Given the description of an element on the screen output the (x, y) to click on. 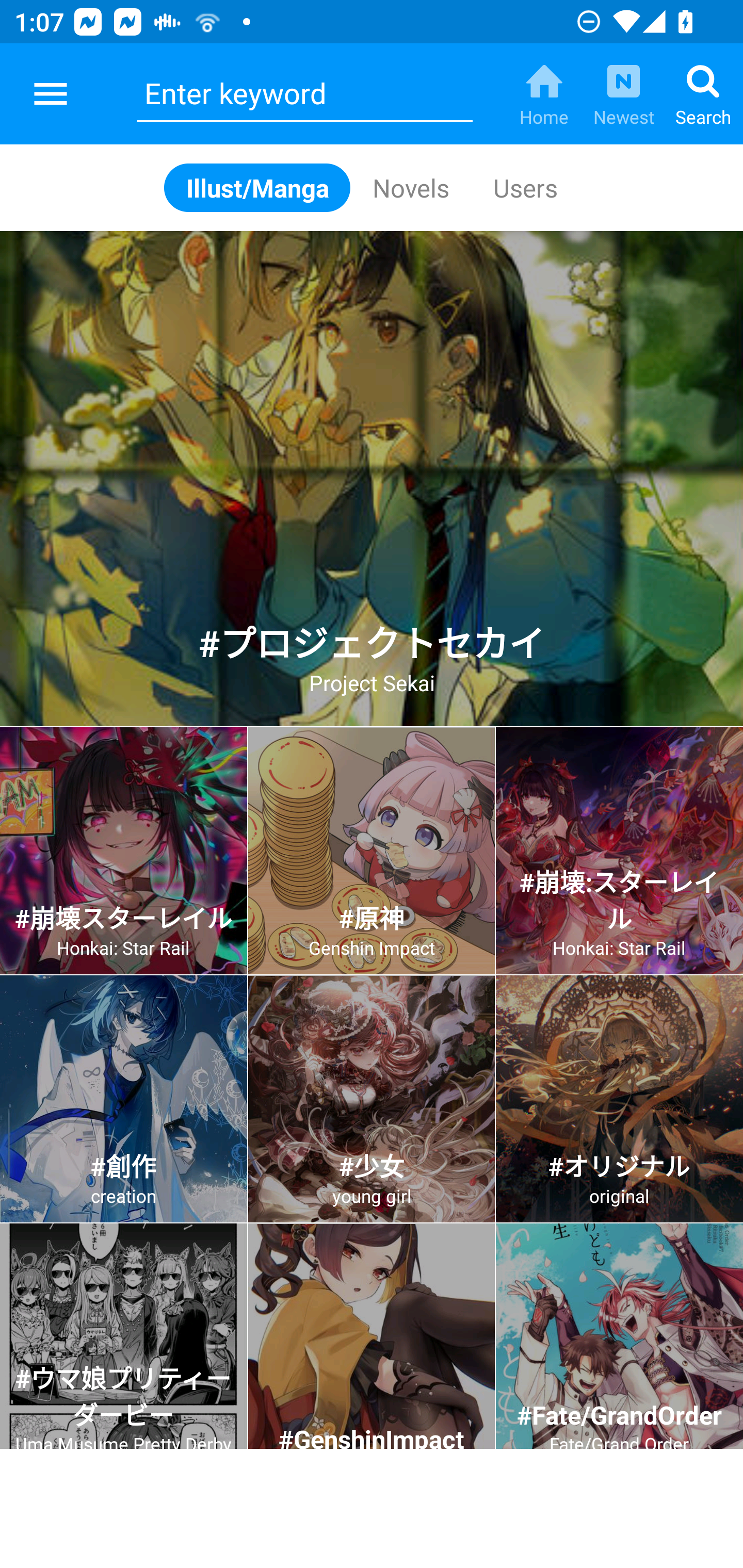
pixiv (50, 93)
Home (543, 93)
Newest (623, 93)
Enter keyword (304, 93)
Illust/Manga (257, 187)
Novels (410, 187)
Users (524, 187)
